Given the description of an element on the screen output the (x, y) to click on. 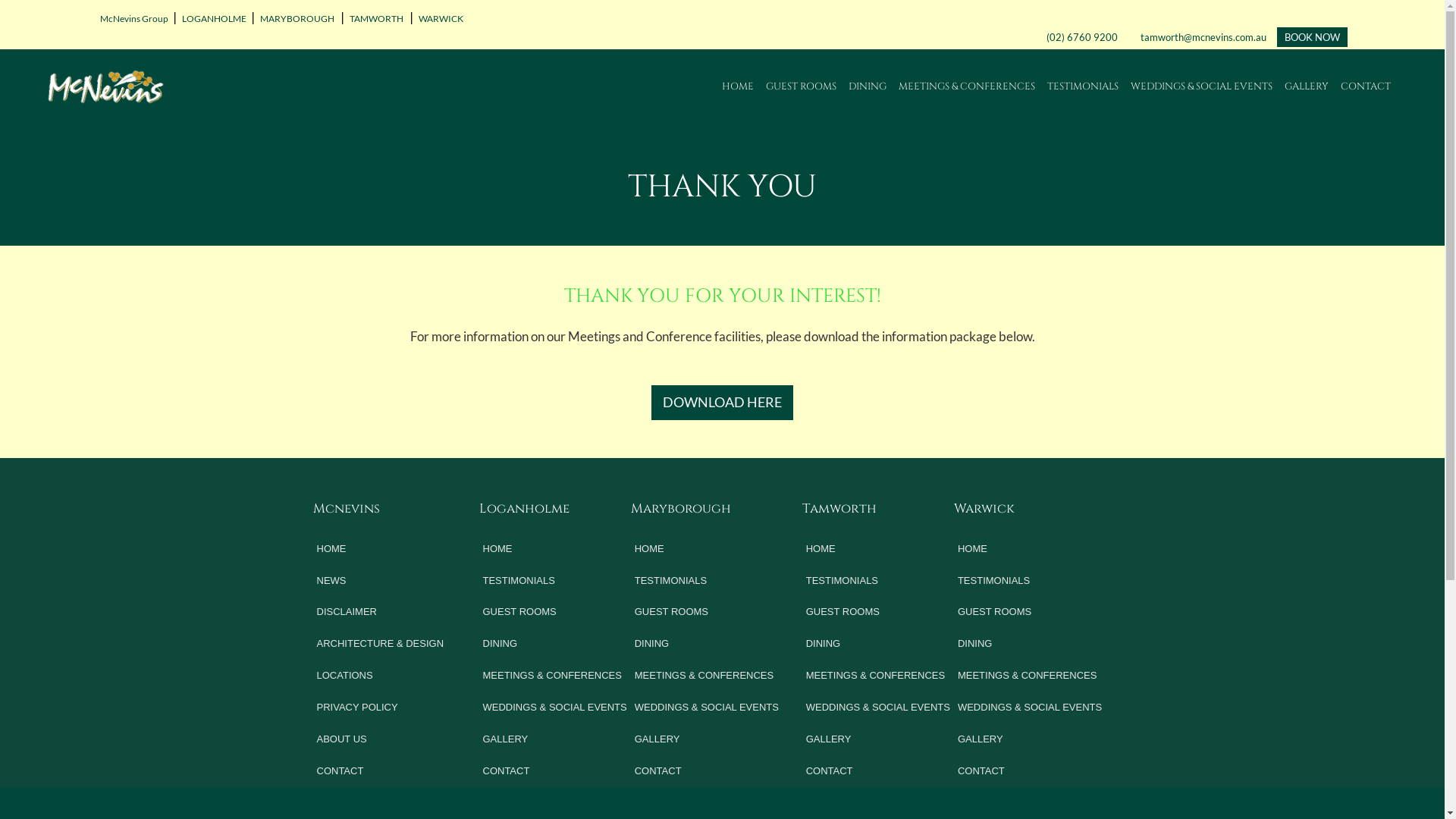
HOME Element type: text (1030, 548)
CONTACT Element type: text (1030, 771)
DOWNLOAD HERE Element type: text (722, 402)
BOOK NOW Element type: text (1311, 37)
GALLERY Element type: text (1306, 86)
GALLERY Element type: text (707, 739)
  TAMWORTH Element type: text (375, 18)
GALLERY Element type: text (556, 739)
WEDDINGS & SOCIAL EVENTS Element type: text (1030, 707)
MEETINGS & CONFERENCES Element type: text (879, 675)
HOME Element type: text (707, 548)
WEDDINGS & SOCIAL EVENTS Element type: text (556, 707)
TESTIMONIALS Element type: text (879, 580)
MEETINGS & CONFERENCES Element type: text (556, 675)
WEDDINGS & SOCIAL EVENTS Element type: text (879, 707)
DINING Element type: text (707, 643)
HOME Element type: text (556, 548)
HOME Element type: text (737, 86)
MEETINGS & CONFERENCES Element type: text (966, 86)
  WARWICK Element type: text (439, 18)
DINING Element type: text (867, 86)
ARCHITECTURE & DESIGN Element type: text (381, 643)
GUEST ROOMS Element type: text (707, 611)
HOME Element type: text (381, 548)
MEETINGS & CONFERENCES Element type: text (1030, 675)
  MARYBOROUGH Element type: text (296, 18)
CONTACT Element type: text (1365, 86)
TESTIMONIALS Element type: text (1082, 86)
DISCLAIMER Element type: text (381, 611)
  tamworth@mcnevins.com.au Element type: text (1200, 37)
LOCATIONS Element type: text (381, 675)
CONTACT Element type: text (381, 771)
WEDDINGS & SOCIAL EVENTS Element type: text (707, 707)
MEETINGS & CONFERENCES Element type: text (707, 675)
TESTIMONIALS Element type: text (707, 580)
GALLERY Element type: text (879, 739)
WEDDINGS & SOCIAL EVENTS Element type: text (1201, 86)
GALLERY Element type: text (1030, 739)
BOOK NOW Element type: text (1312, 37)
(02) 6760 9200 Element type: text (1081, 37)
TESTIMONIALS Element type: text (1030, 580)
GUEST ROOMS Element type: text (556, 611)
NEWS Element type: text (381, 580)
  McNevins Group Element type: text (132, 18)
DINING Element type: text (556, 643)
CONTACT Element type: text (707, 771)
DINING Element type: text (879, 643)
ABOUT US Element type: text (381, 739)
  LOGANHOLME Element type: text (212, 18)
CONTACT Element type: text (556, 771)
HOME Element type: text (879, 548)
TESTIMONIALS Element type: text (556, 580)
GUEST ROOMS Element type: text (1030, 611)
GUEST ROOMS Element type: text (879, 611)
CONTACT Element type: text (879, 771)
GUEST ROOMS Element type: text (800, 86)
PRIVACY POLICY Element type: text (381, 707)
DINING Element type: text (1030, 643)
